Given the description of an element on the screen output the (x, y) to click on. 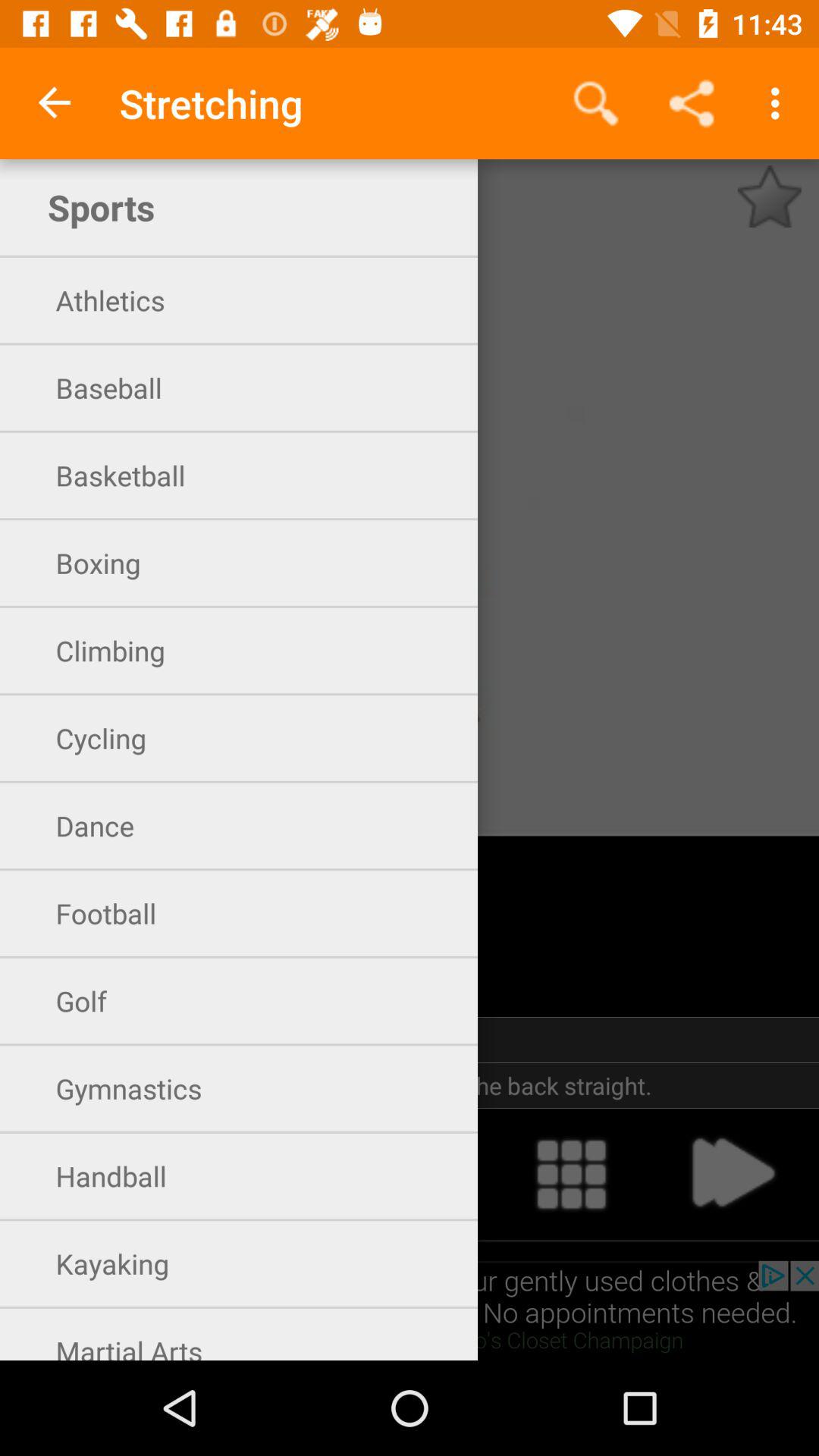
click to play option (731, 1174)
